Given the description of an element on the screen output the (x, y) to click on. 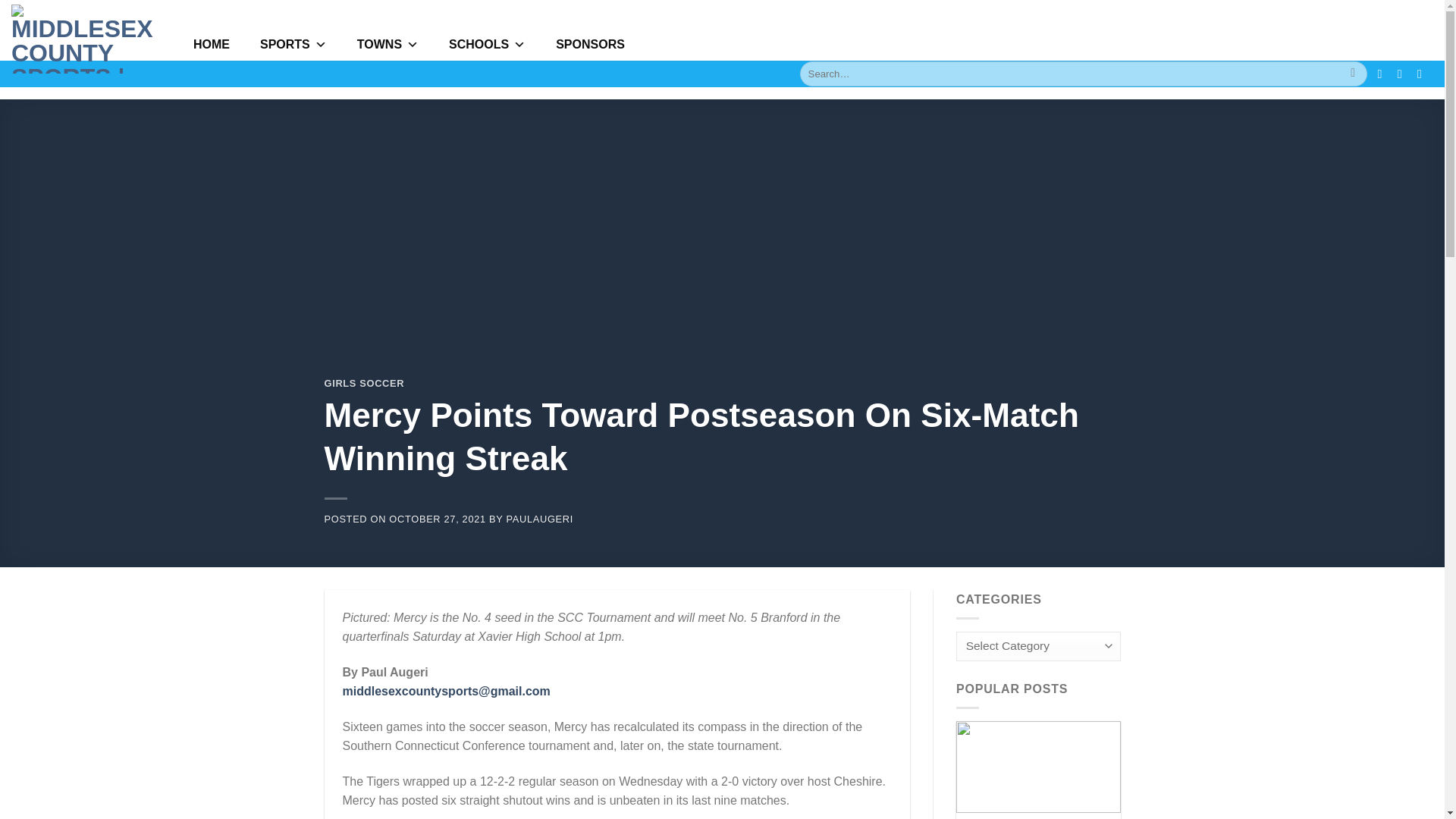
TOWNS (387, 42)
SPORTS (292, 42)
Follow on Facebook (1383, 73)
HOME (211, 42)
